Given the description of an element on the screen output the (x, y) to click on. 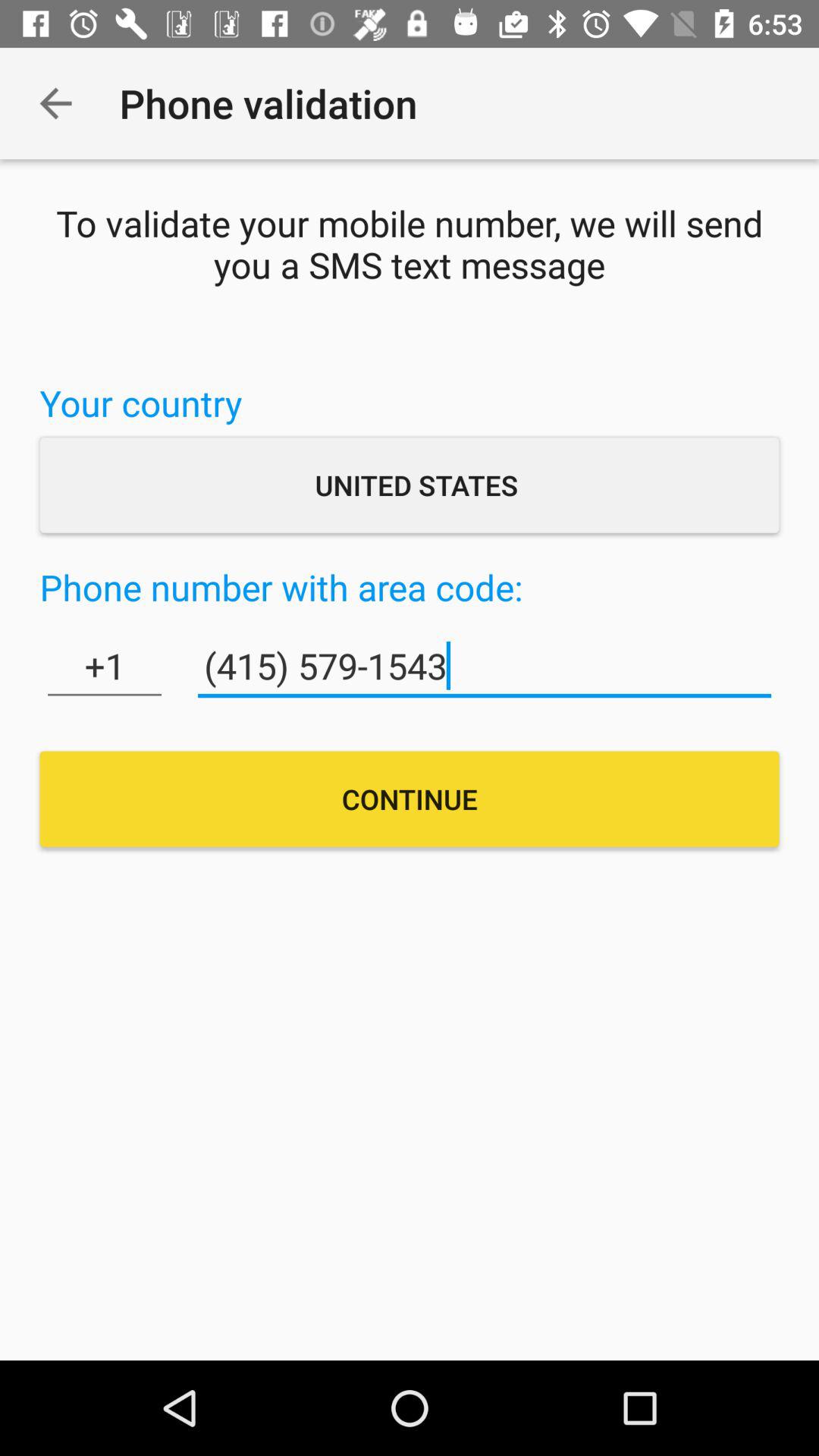
scroll to the united states (409, 484)
